Given the description of an element on the screen output the (x, y) to click on. 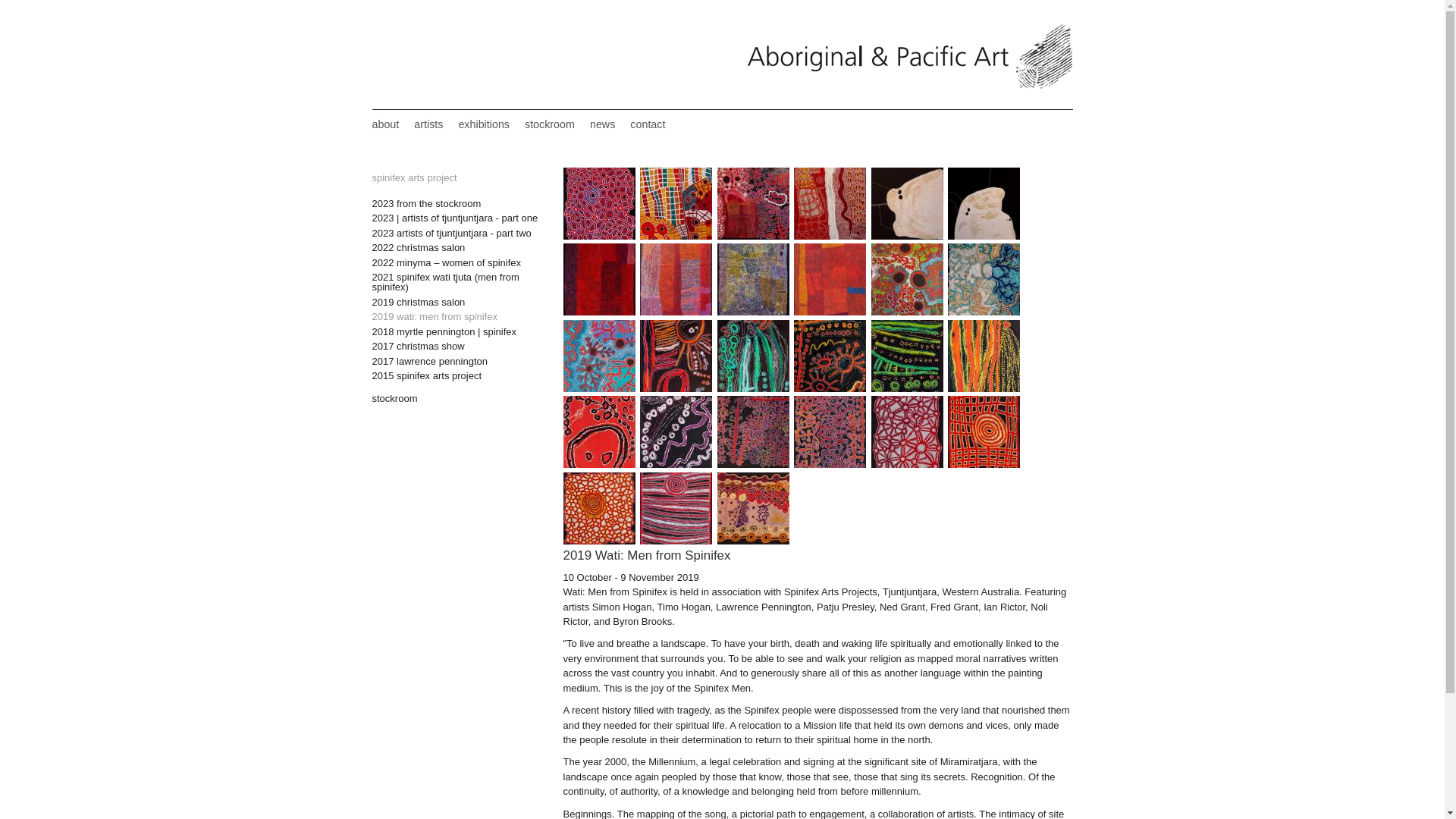
artists (427, 123)
2023 artists of tjuntjuntjara - part two (454, 233)
contact (647, 123)
stockroom (549, 123)
Home (908, 85)
exhibitions (483, 123)
news (601, 123)
about (384, 123)
2023 from the stockroom (454, 203)
